Given the description of an element on the screen output the (x, y) to click on. 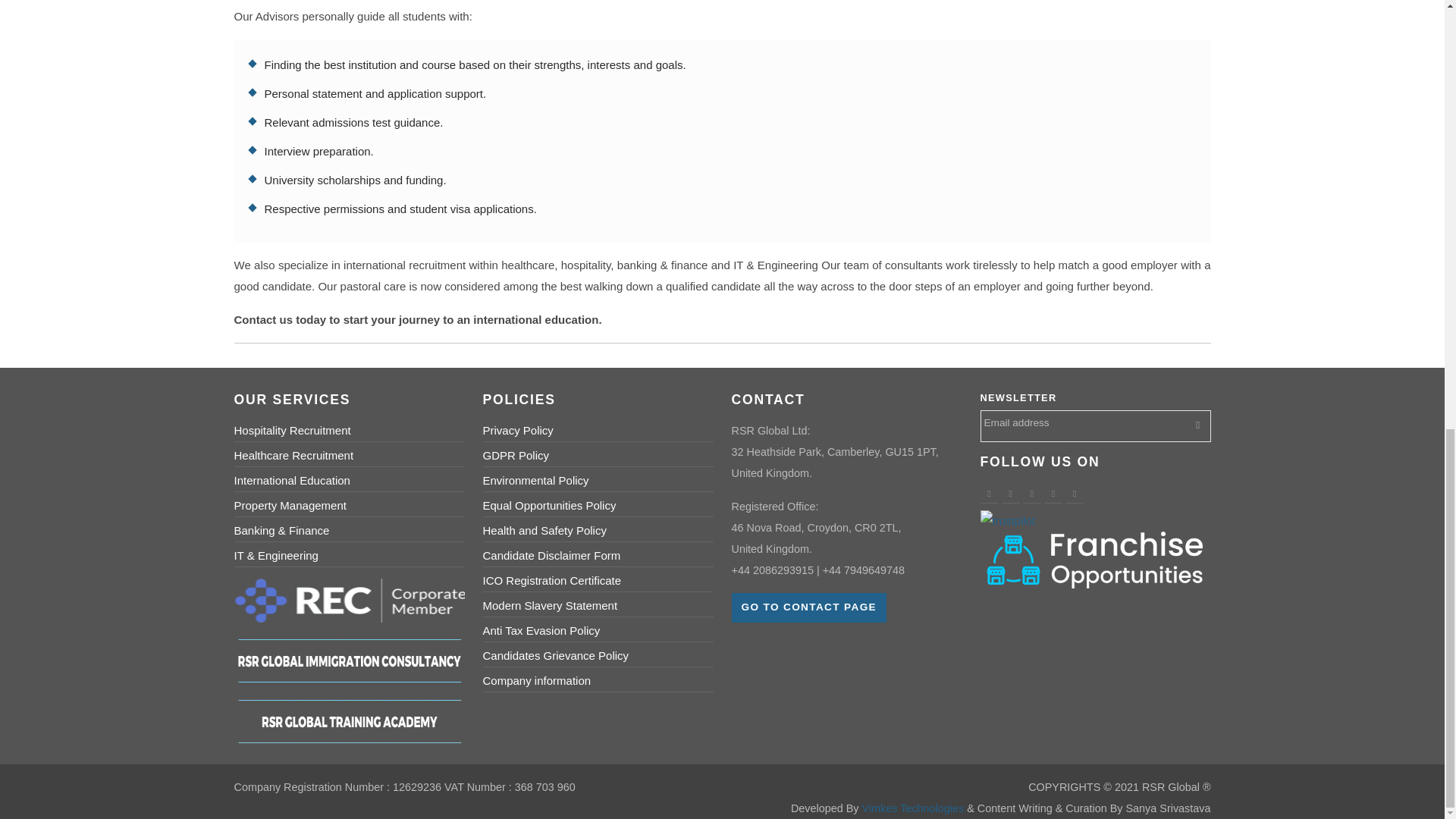
Instagram (1074, 493)
Youtube (1052, 493)
Linkedin (1032, 493)
Facebook (988, 493)
Twitter (1010, 493)
